Given the description of an element on the screen output the (x, y) to click on. 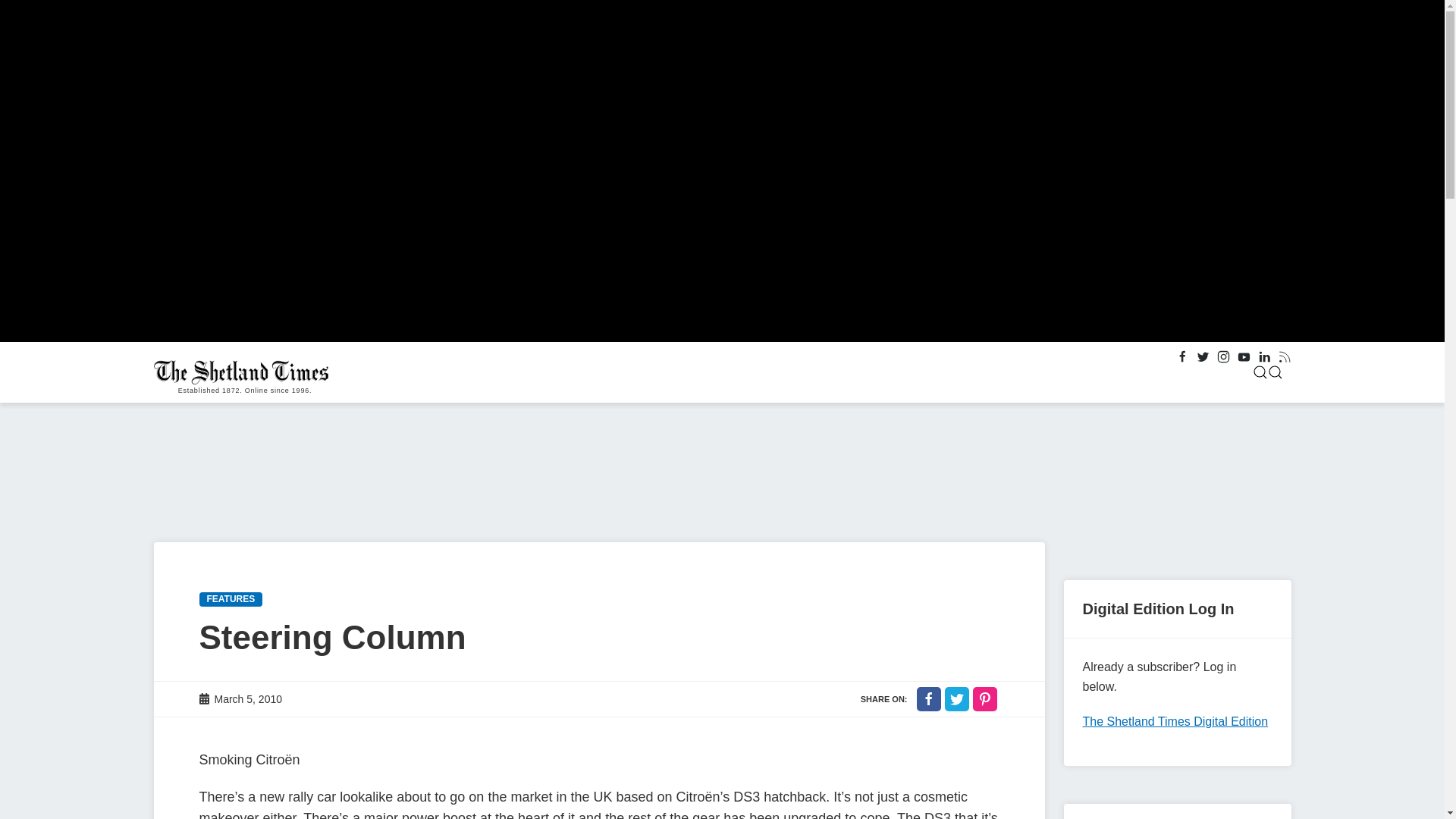
The Shetland Times Digital Edition (1175, 721)
Established 1872. Online since 1996. (244, 372)
FEATURES (230, 599)
